Given the description of an element on the screen output the (x, y) to click on. 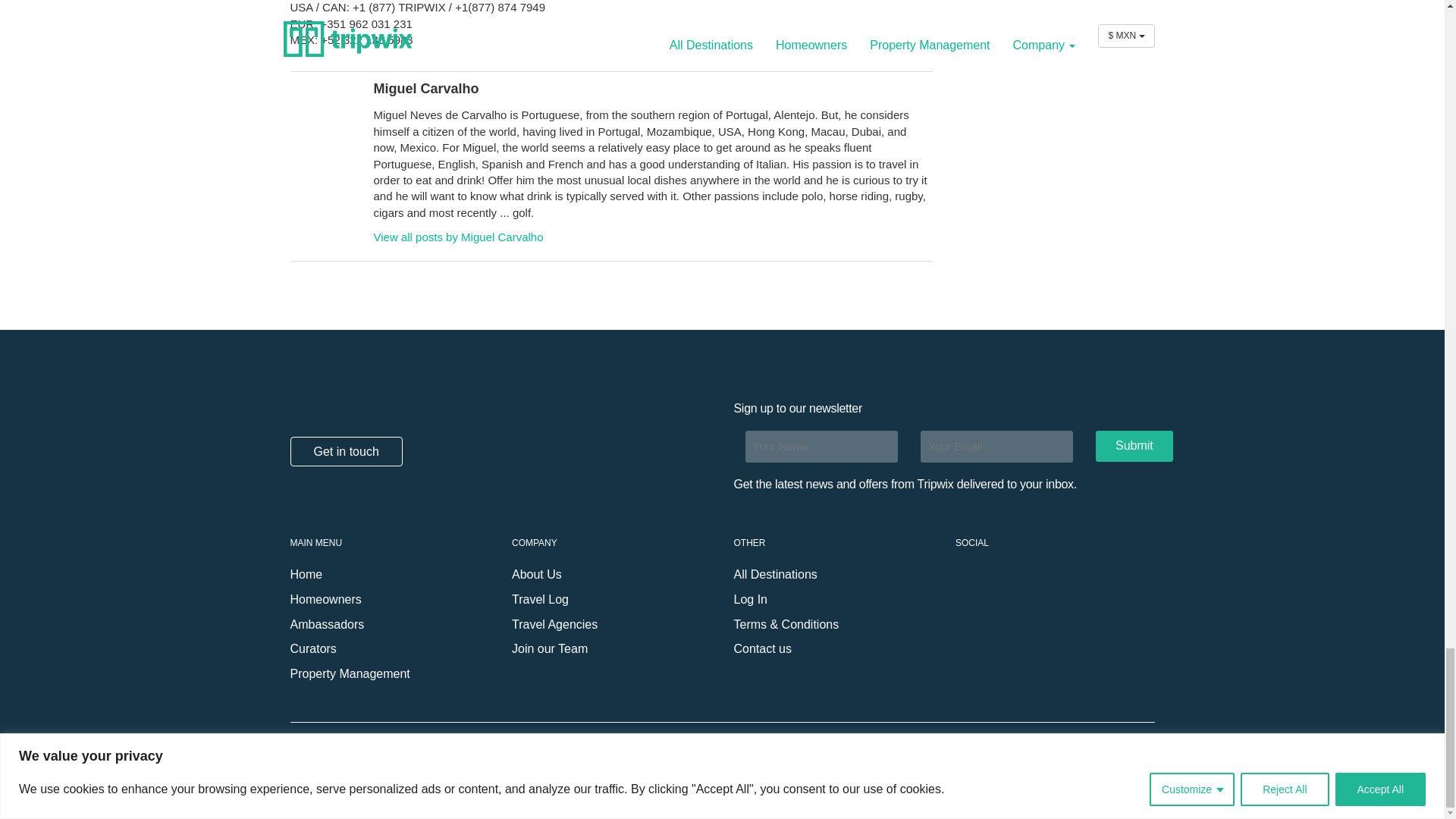
Submit (1134, 445)
